Given the description of an element on the screen output the (x, y) to click on. 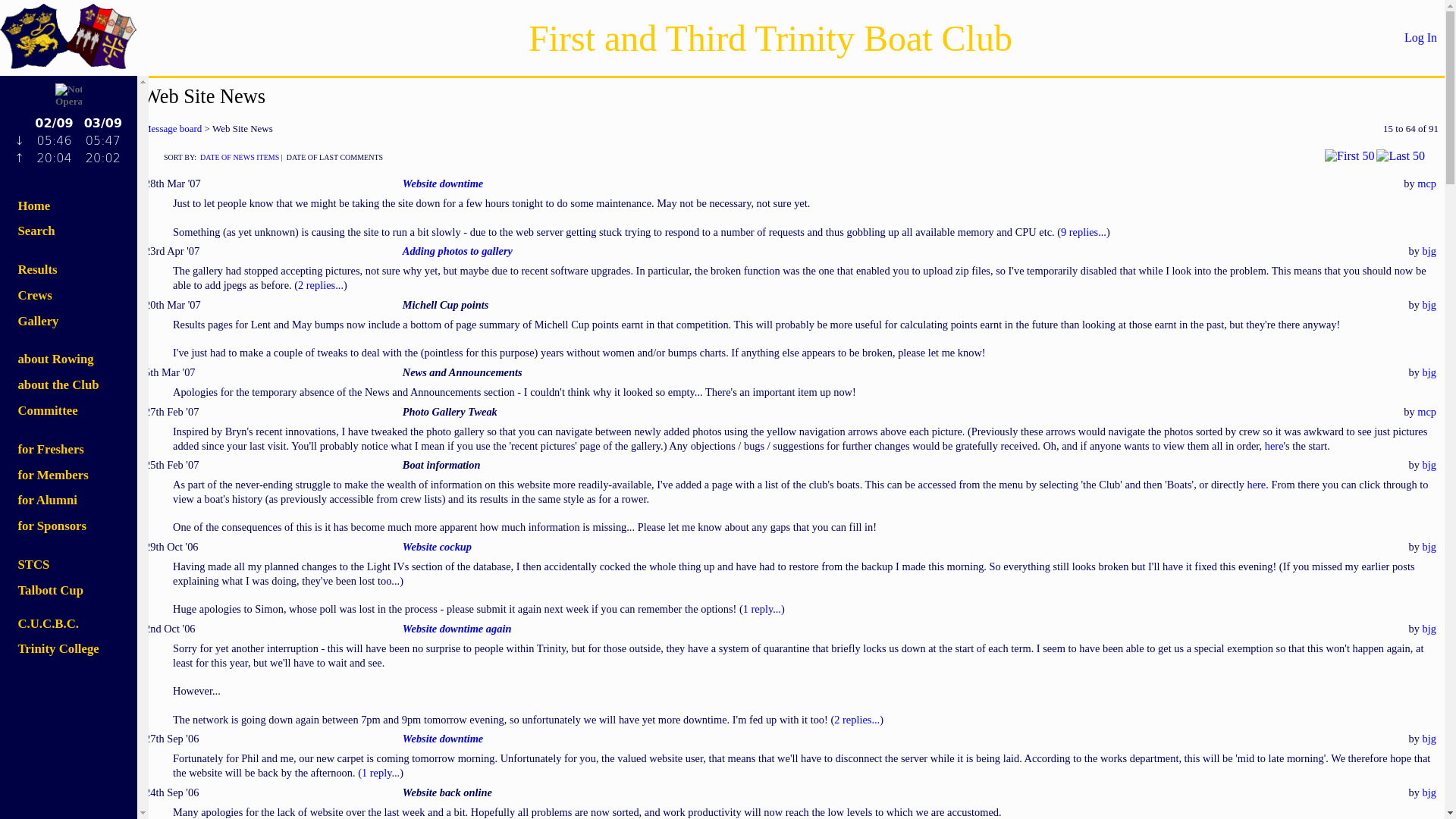
Website downtime (443, 183)
Adding photos to gallery (457, 250)
2 replies... (856, 719)
here (1255, 484)
1 reply... (761, 608)
lighting (68, 143)
2 replies... (320, 285)
1 reply... (379, 772)
First and Third Trinity Boat Club (770, 37)
9 replies... (1083, 232)
